Given the description of an element on the screen output the (x, y) to click on. 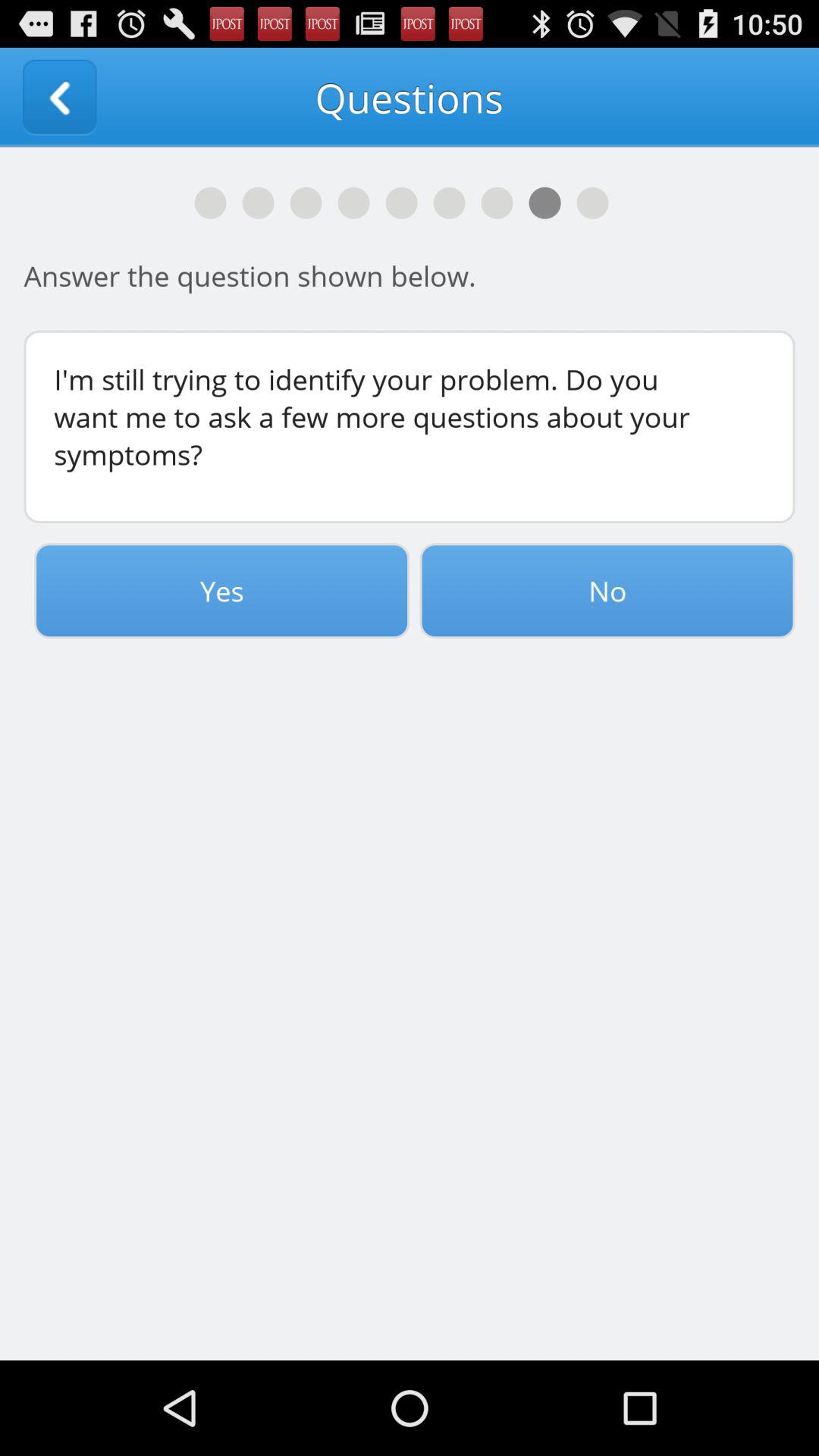
open the button on the left (221, 590)
